Given the description of an element on the screen output the (x, y) to click on. 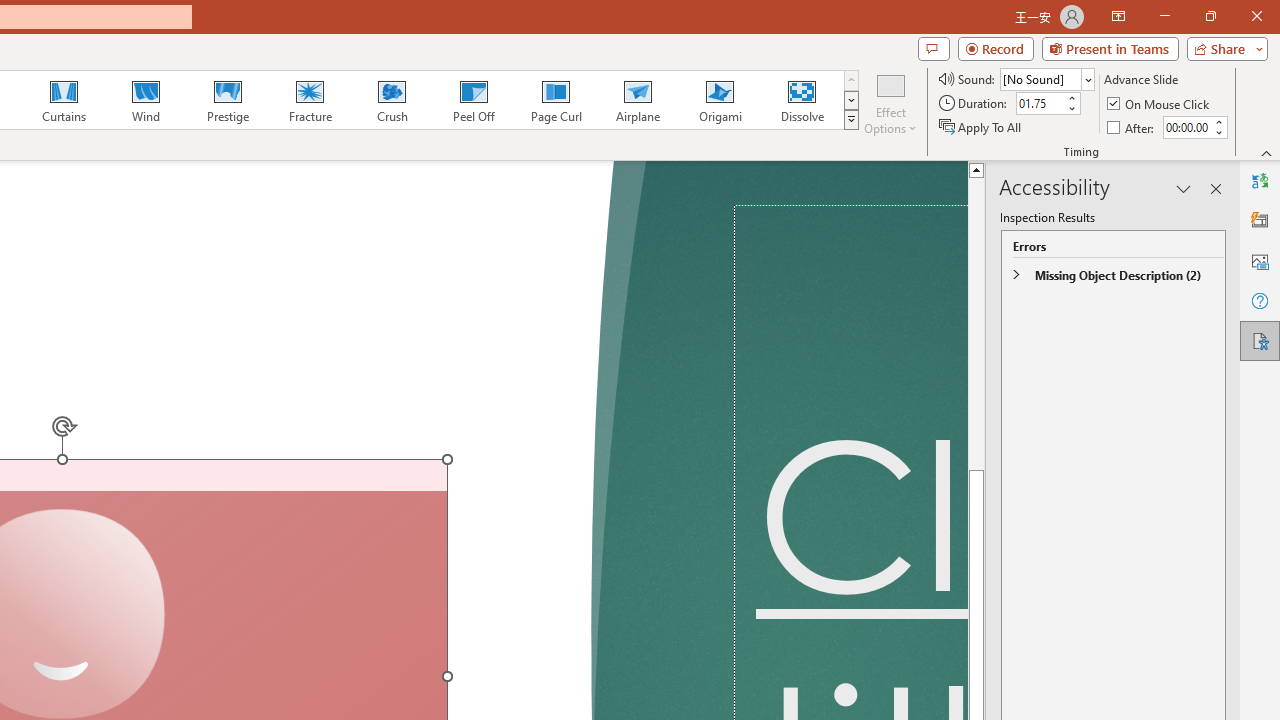
Less (1218, 132)
Alt Text (1260, 260)
Translator (1260, 180)
After (1131, 126)
Origami (719, 100)
On Mouse Click (1159, 103)
